Given the description of an element on the screen output the (x, y) to click on. 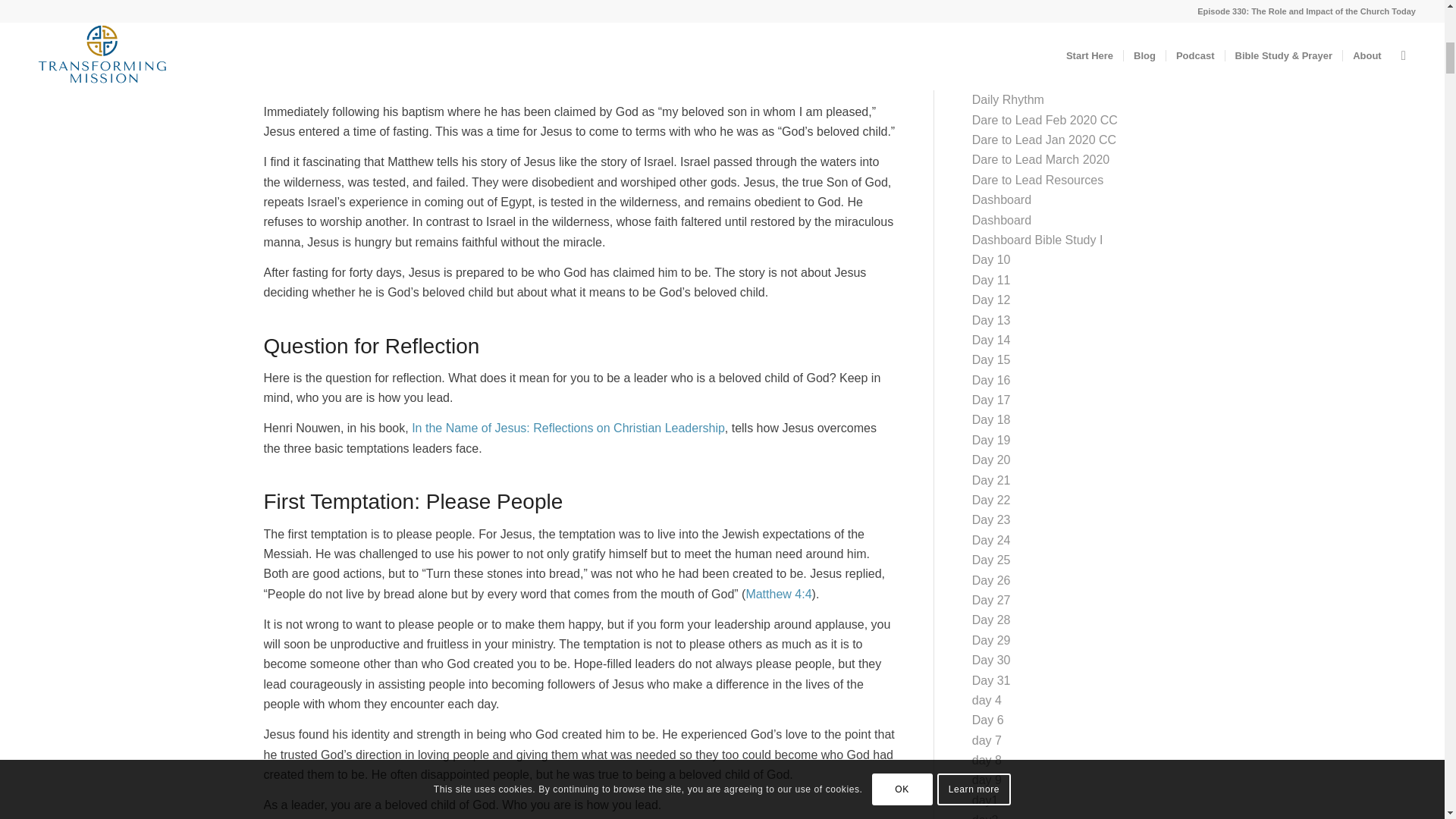
Matthew 4:4 (777, 594)
In the Name of Jesus: Reflections on Christian Leadership (567, 427)
